Given the description of an element on the screen output the (x, y) to click on. 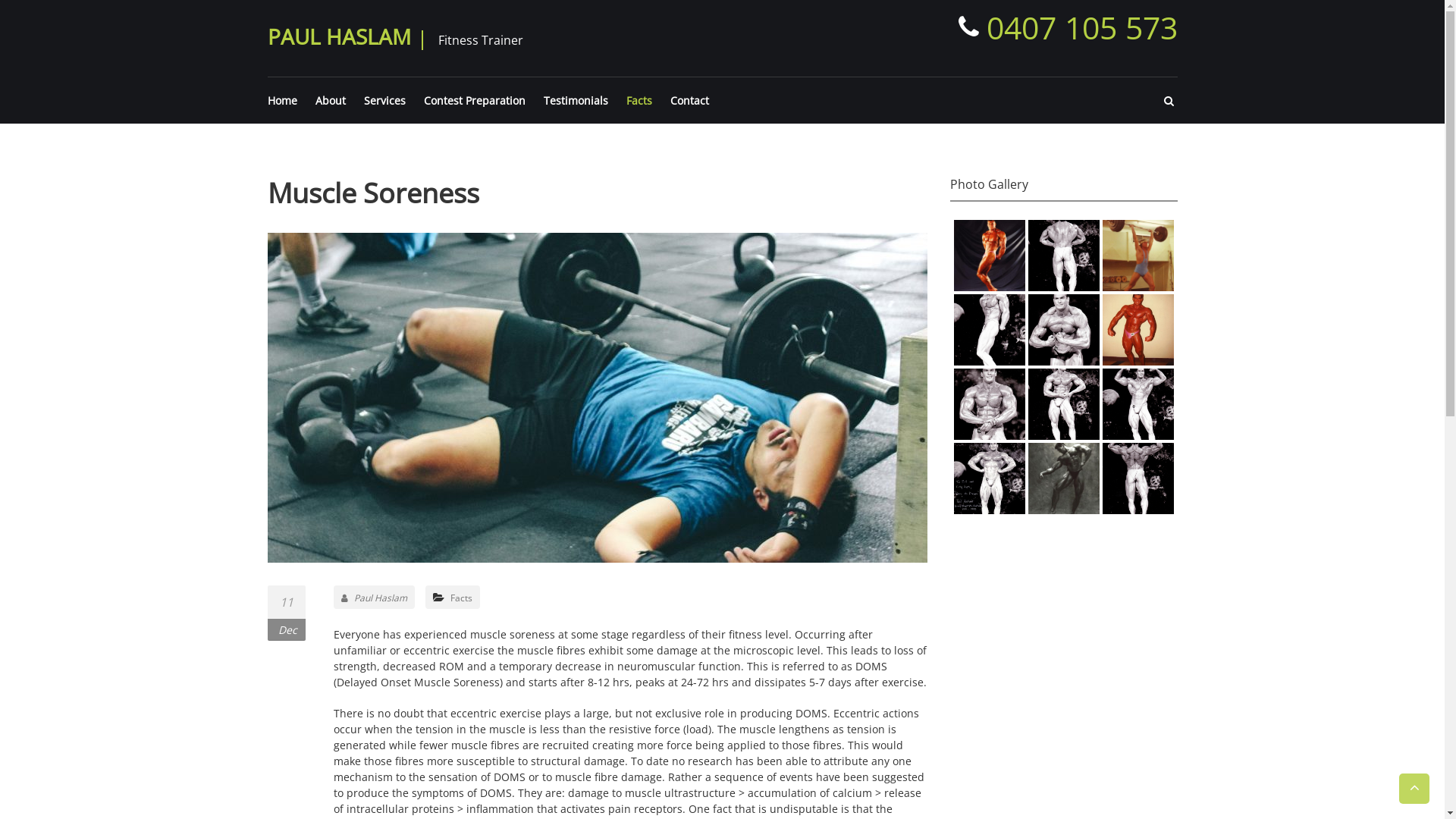
Facts Element type: text (639, 100)
PAUL HASLAM Element type: text (338, 35)
Contact Element type: text (689, 100)
0407 105 573 Element type: text (1063, 26)
Contest Preparation Element type: text (473, 100)
Paul Haslam Element type: text (374, 597)
Services Element type: text (384, 100)
Facts Element type: text (461, 597)
About Element type: text (330, 100)
Home Element type: text (281, 100)
11
Dec Element type: text (285, 612)
Search Element type: text (826, 427)
Testimonials Element type: text (574, 100)
